Given the description of an element on the screen output the (x, y) to click on. 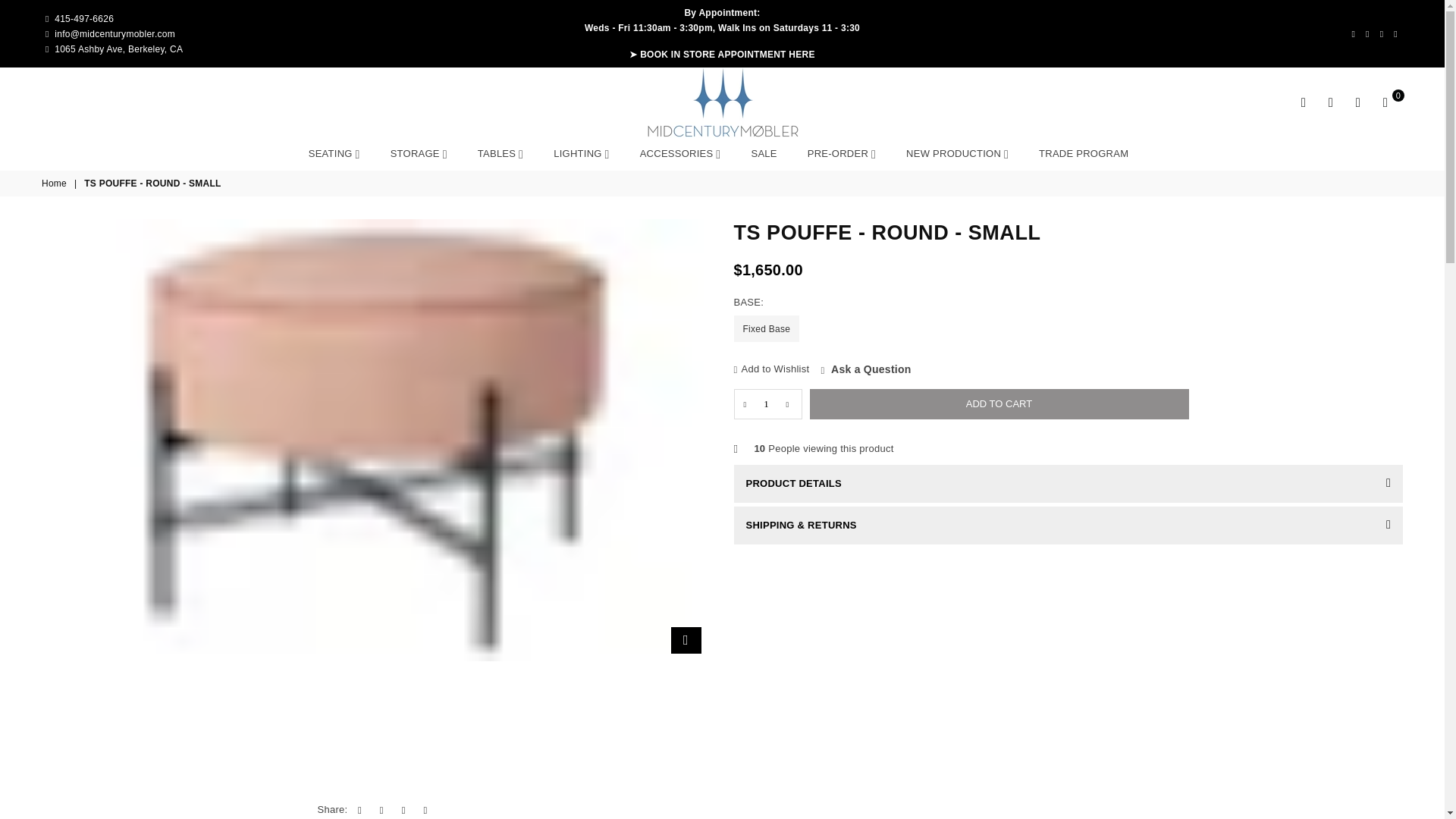
Wishlist (1357, 101)
Quantity (767, 404)
Mid Century Mobler on Instagram (1396, 33)
Mid Century Mobler on Twitter (1366, 33)
Twitter (1366, 33)
Pinterest (1381, 33)
Cart (1385, 101)
Search (1303, 101)
0 (1385, 101)
SEATING (334, 153)
